Given the description of an element on the screen output the (x, y) to click on. 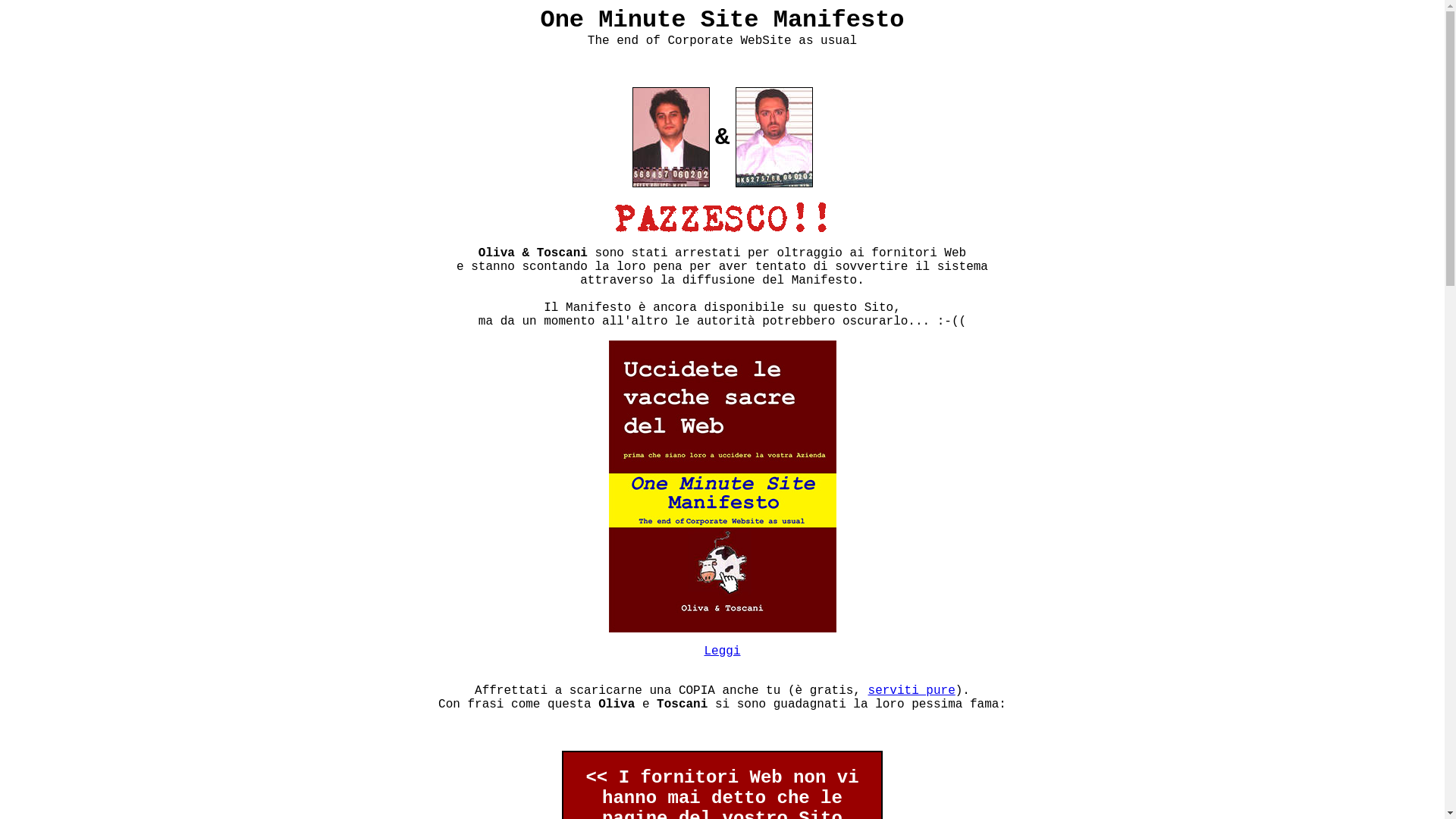
Leggi Element type: text (721, 651)
serviti pure Element type: text (911, 690)
